Given the description of an element on the screen output the (x, y) to click on. 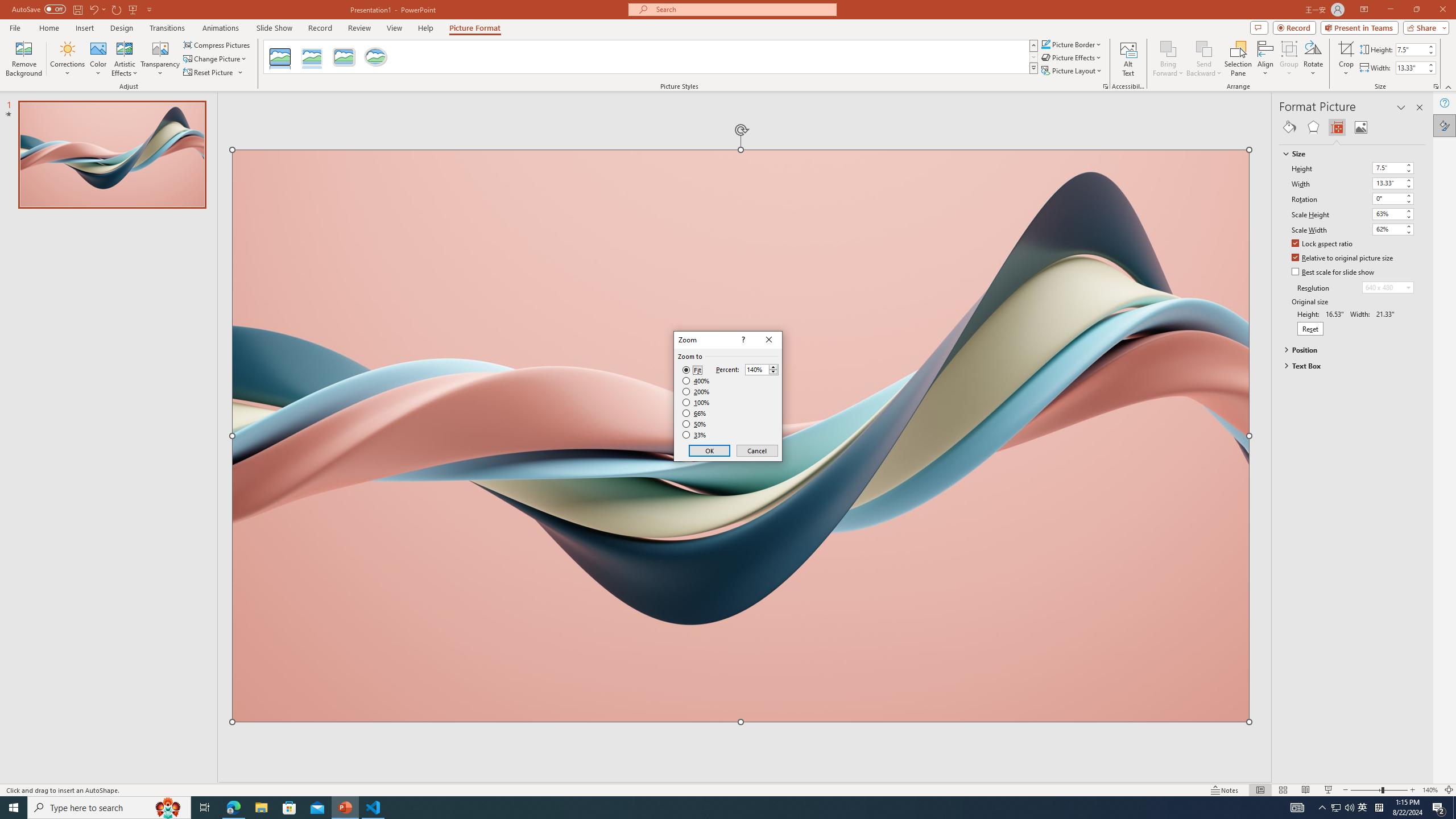
50% (694, 424)
Position (1347, 349)
Fit (691, 370)
